Given the description of an element on the screen output the (x, y) to click on. 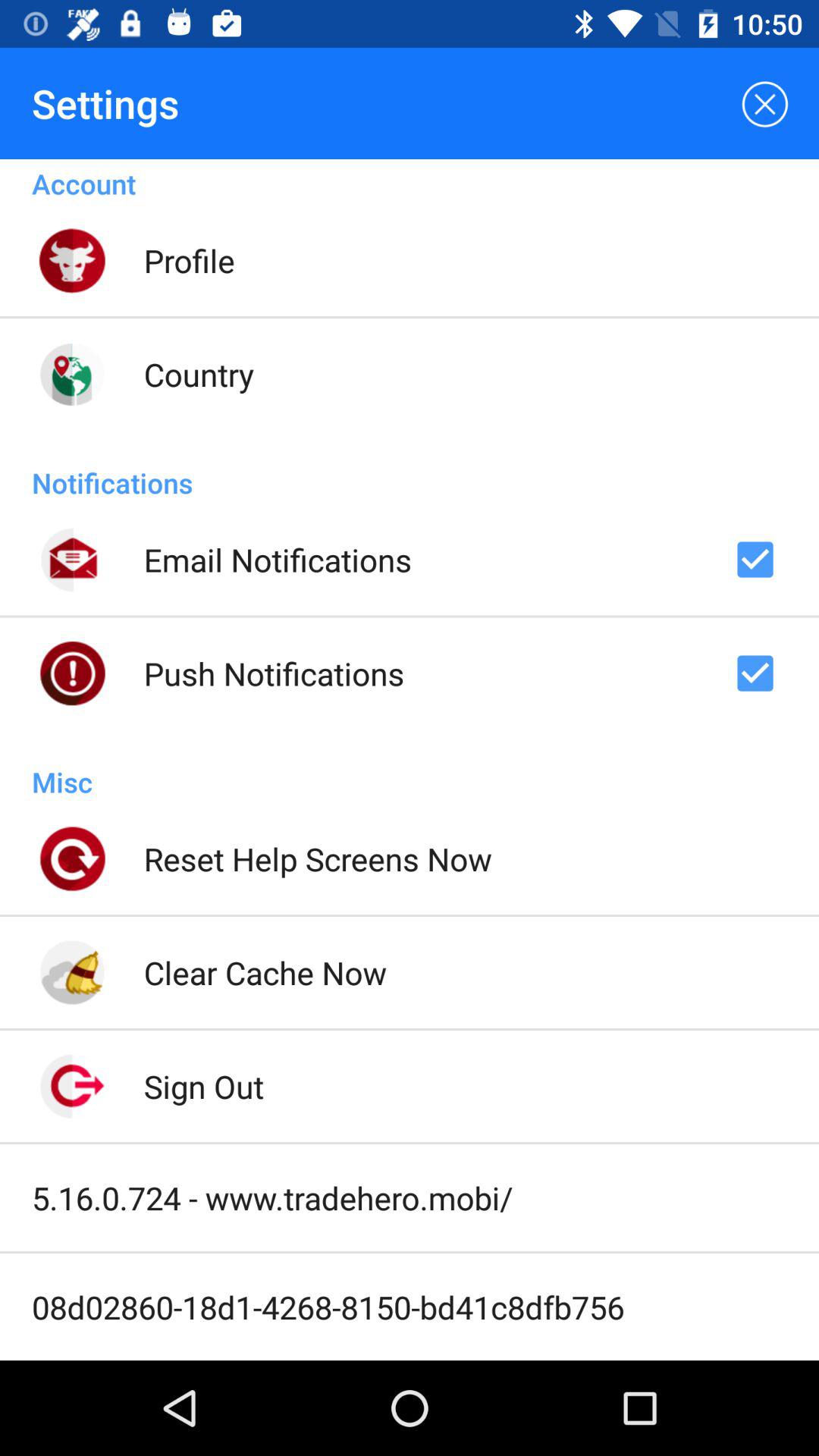
turn on item next to the settings icon (763, 103)
